Given the description of an element on the screen output the (x, y) to click on. 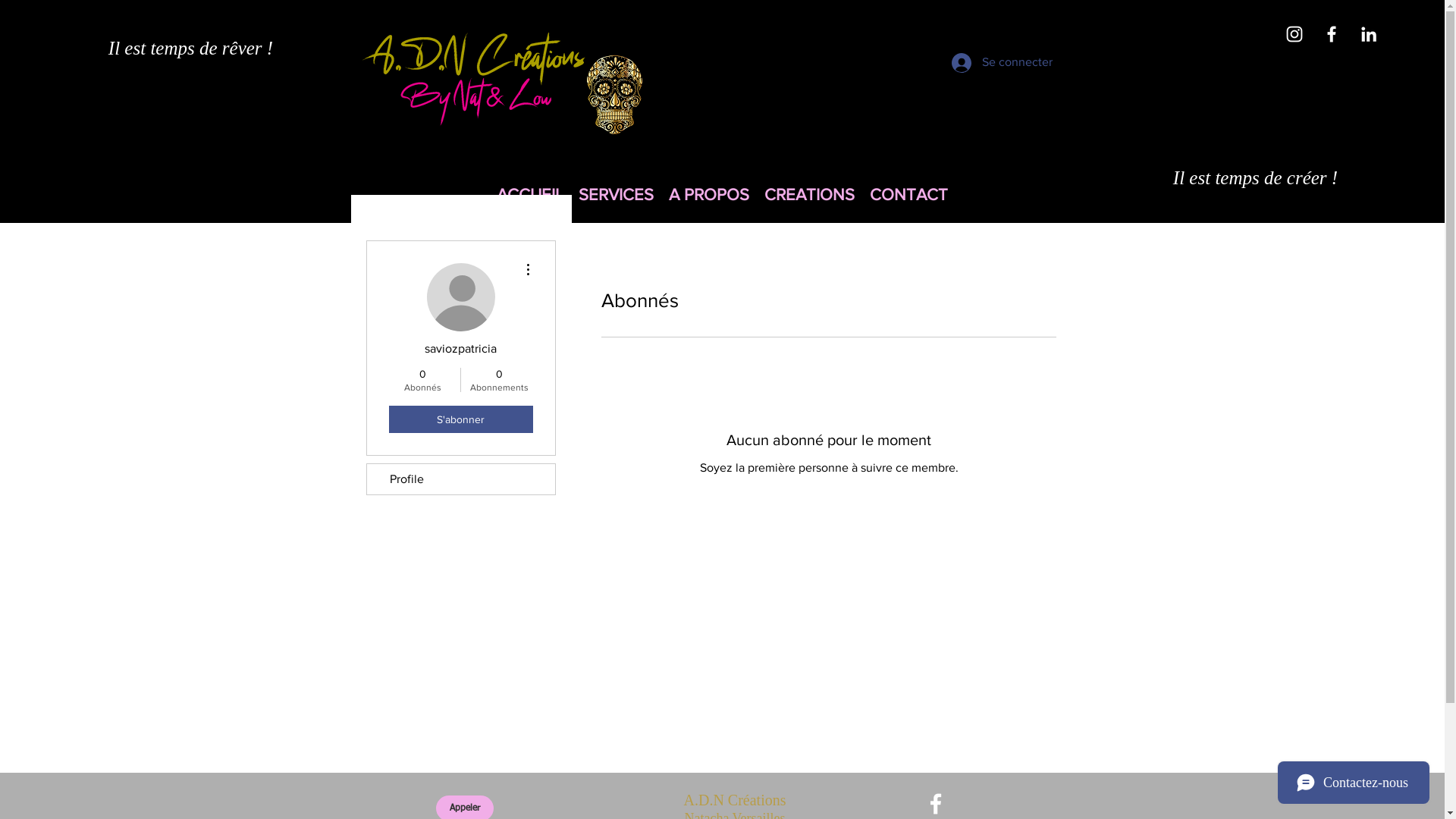
Profile Element type: text (461, 479)
CREATIONS Element type: text (809, 194)
S'abonner Element type: text (460, 419)
SERVICES Element type: text (616, 194)
A PROPOS Element type: text (708, 194)
Se connecter Element type: text (985, 62)
0
Abonnements Element type: text (499, 379)
Followers Element type: hover (827, 520)
ACCUEIL Element type: text (530, 194)
CONTACT Element type: text (908, 194)
